Given the description of an element on the screen output the (x, y) to click on. 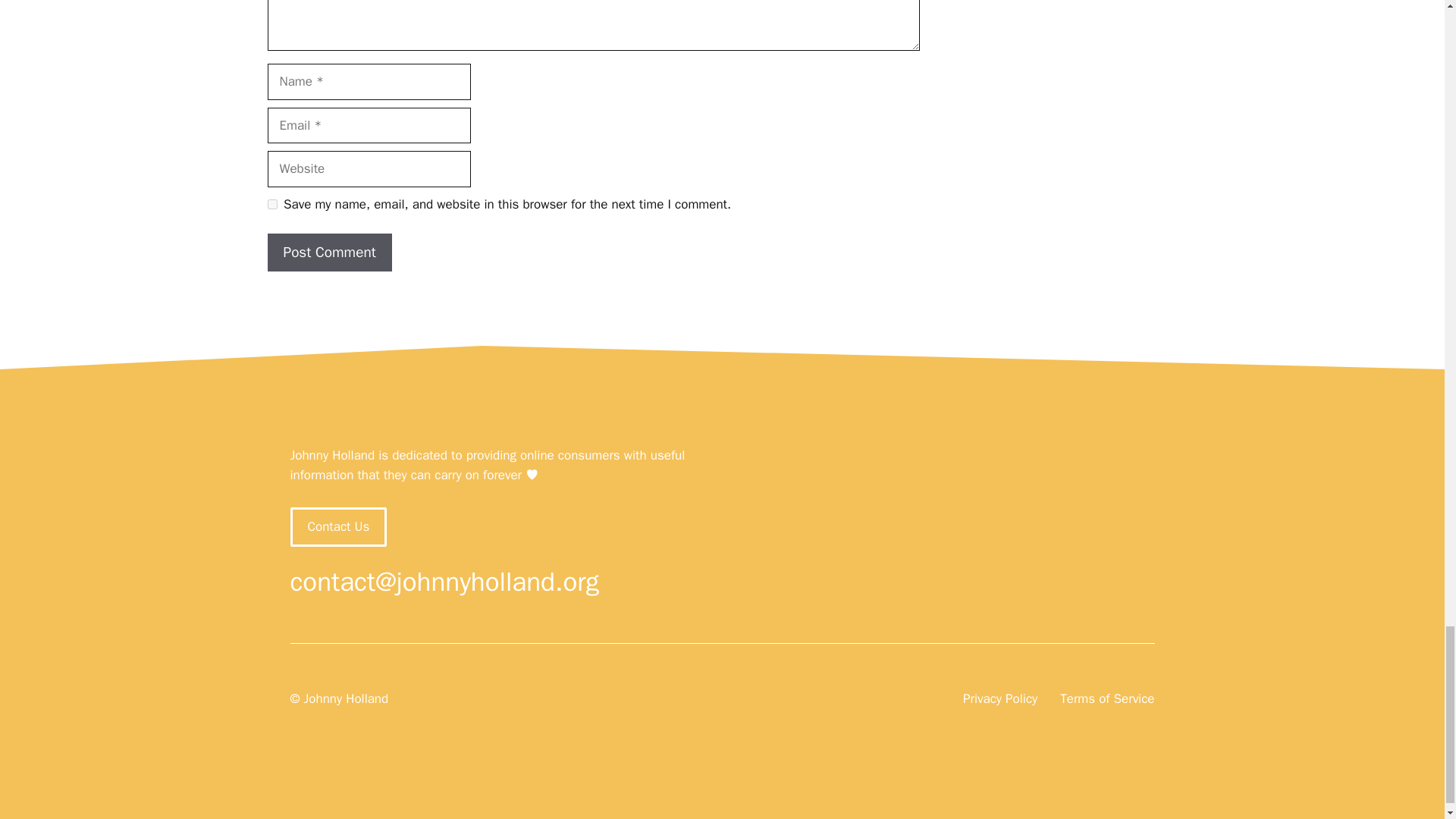
Terms of Service (1106, 699)
Privacy Policy (999, 699)
Post Comment (328, 252)
yes (271, 204)
Contact Us (338, 526)
Post Comment (328, 252)
